Given the description of an element on the screen output the (x, y) to click on. 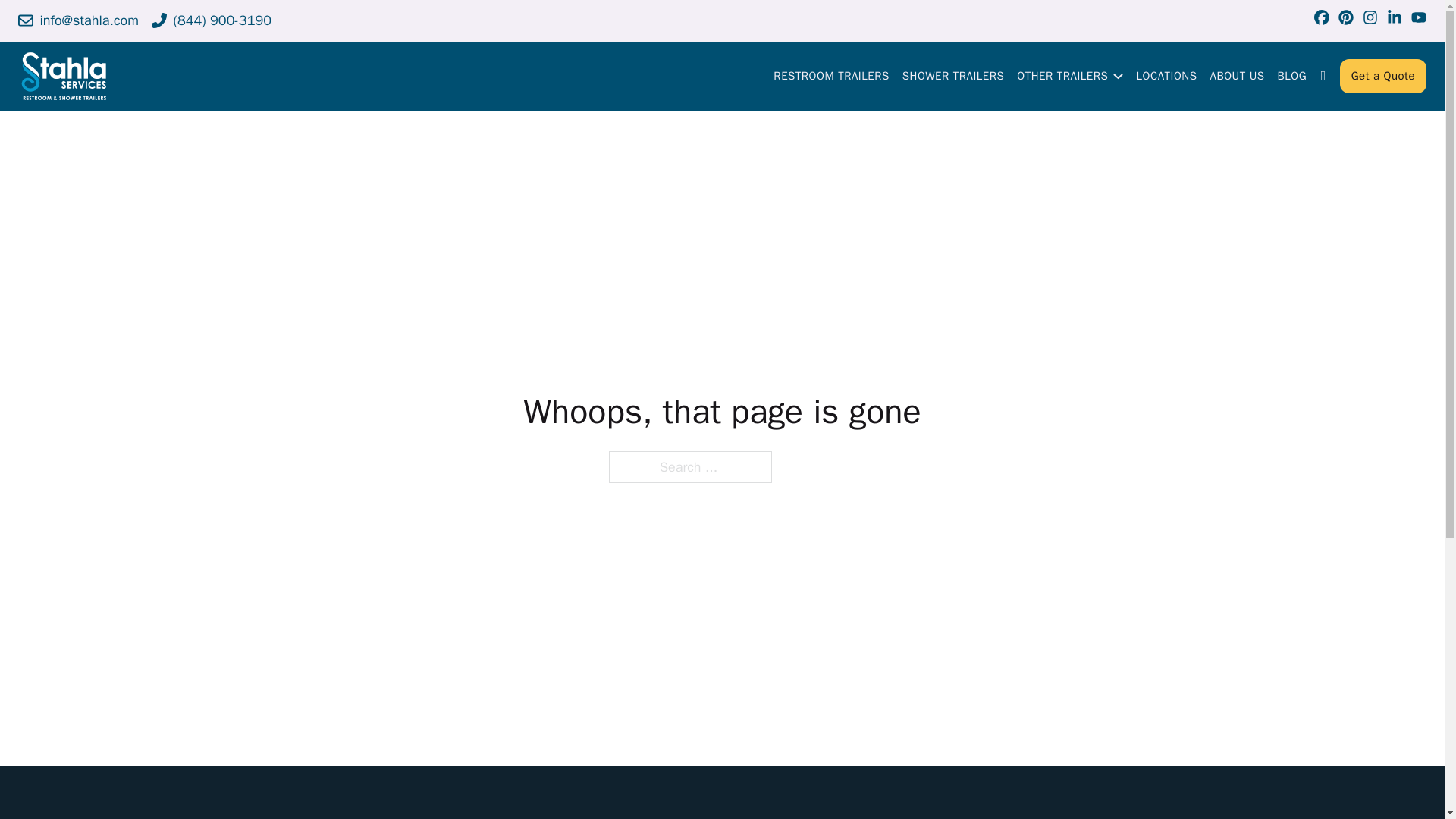
OTHER TRAILERS (1062, 76)
BLOG (1292, 76)
RESTROOM TRAILERS (830, 76)
SHOWER TRAILERS (953, 76)
ABOUT US (1237, 76)
LOCATIONS (1165, 76)
